Given the description of an element on the screen output the (x, y) to click on. 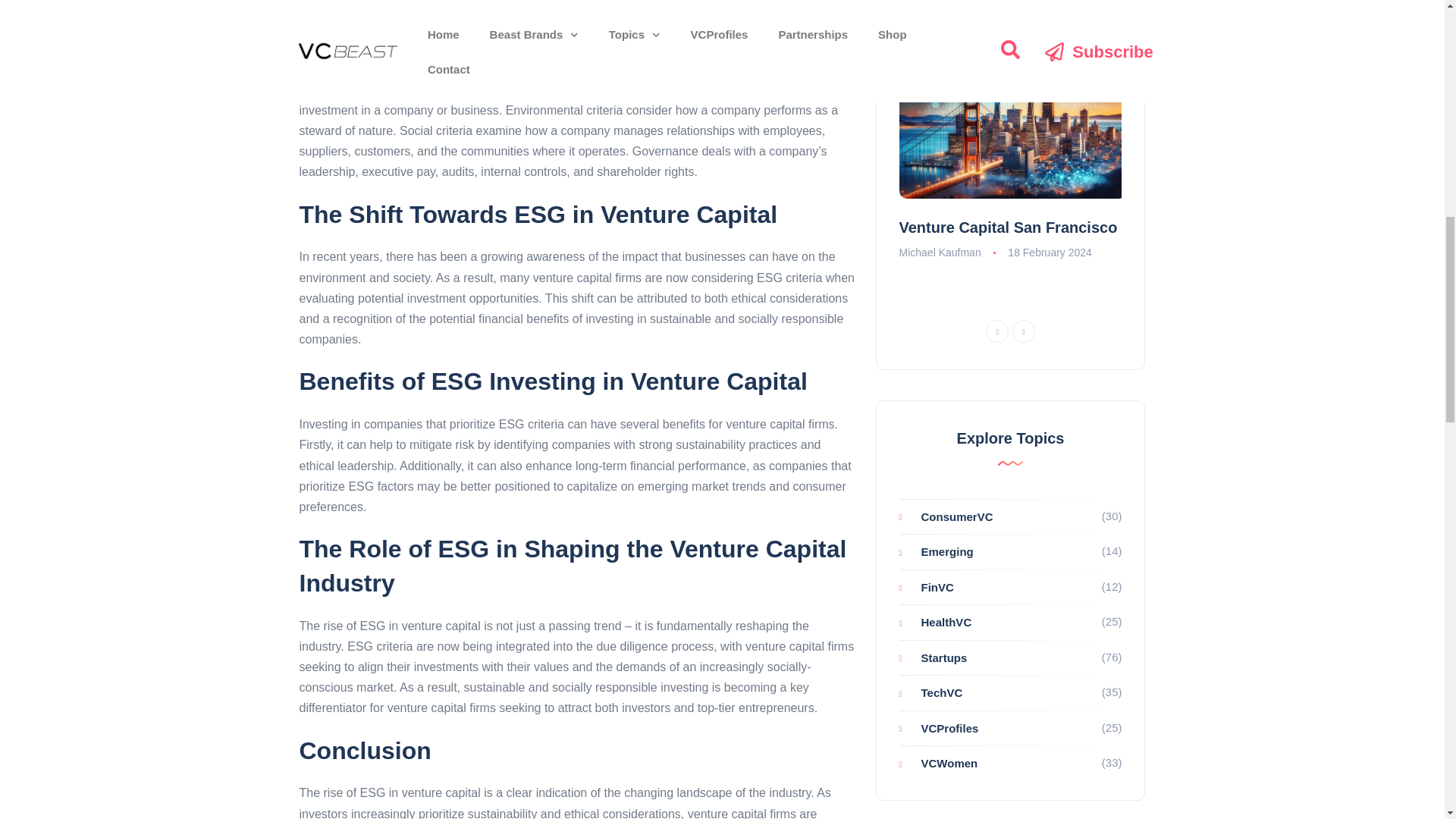
Posts by Michael Kaufman (940, 252)
